Given the description of an element on the screen output the (x, y) to click on. 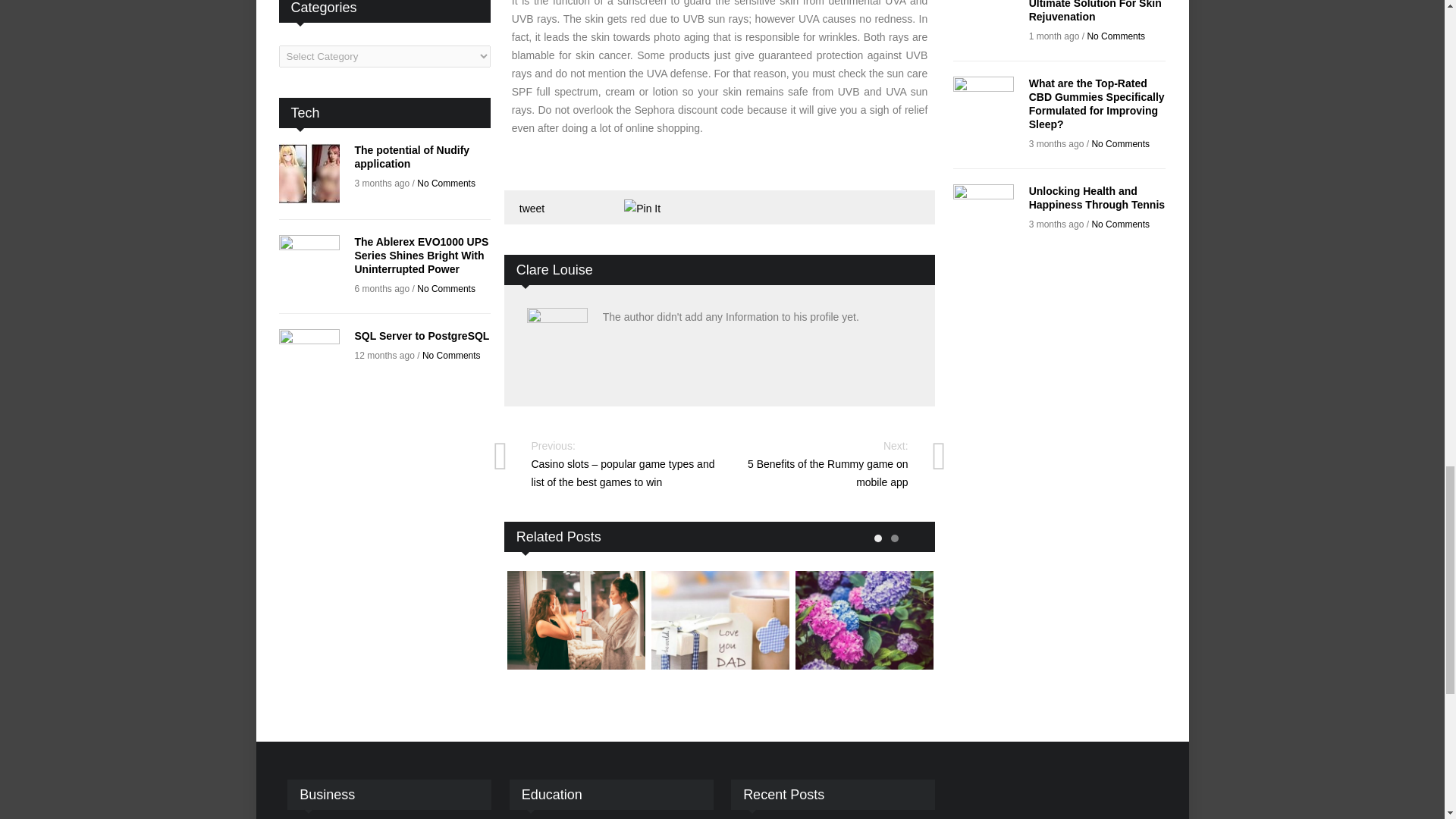
Pin It (642, 208)
